Given the description of an element on the screen output the (x, y) to click on. 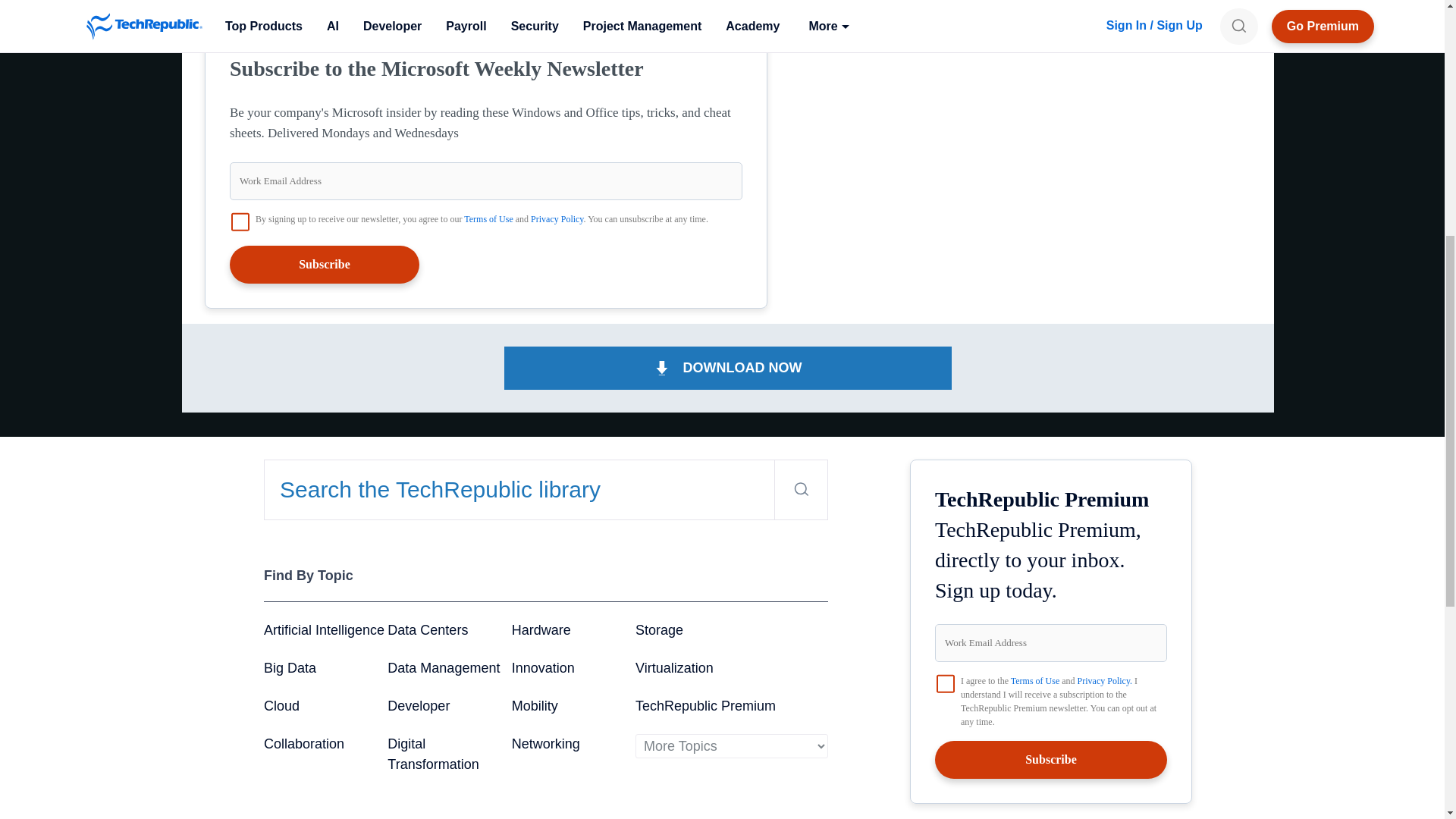
Artificial Intelligence (323, 630)
DOWNLOAD NOW (727, 367)
Privacy Policy (557, 218)
on (945, 683)
Terms of Use (488, 218)
Subscribe (324, 264)
on (239, 221)
